Given the description of an element on the screen output the (x, y) to click on. 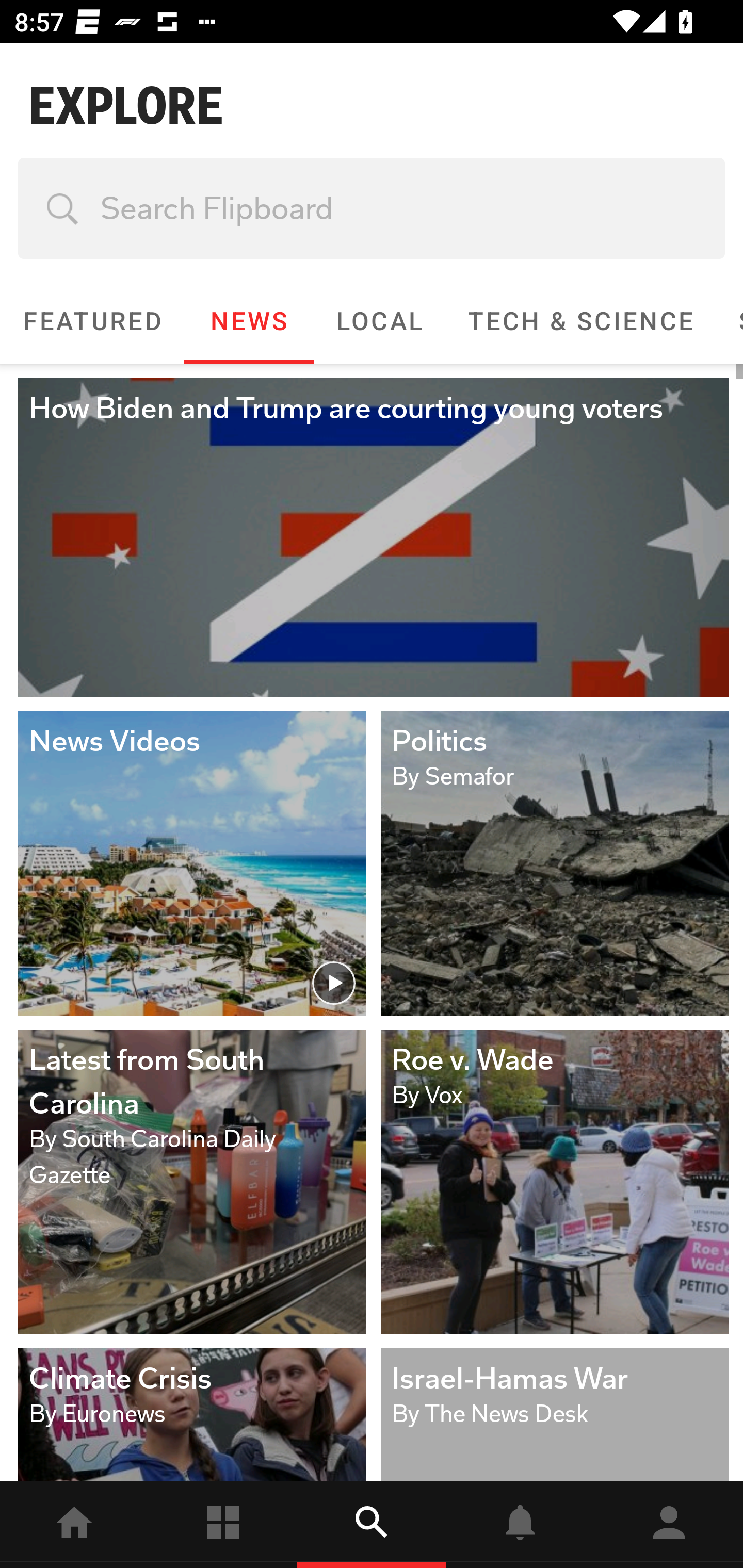
Search Flipboard (371, 208)
Featured FEATURED (91, 320)
Local LOCAL (379, 320)
Tech & Science TECH & SCIENCE (580, 320)
home (74, 1524)
Following (222, 1524)
explore (371, 1524)
Notifications (519, 1524)
Profile (668, 1524)
